Given the description of an element on the screen output the (x, y) to click on. 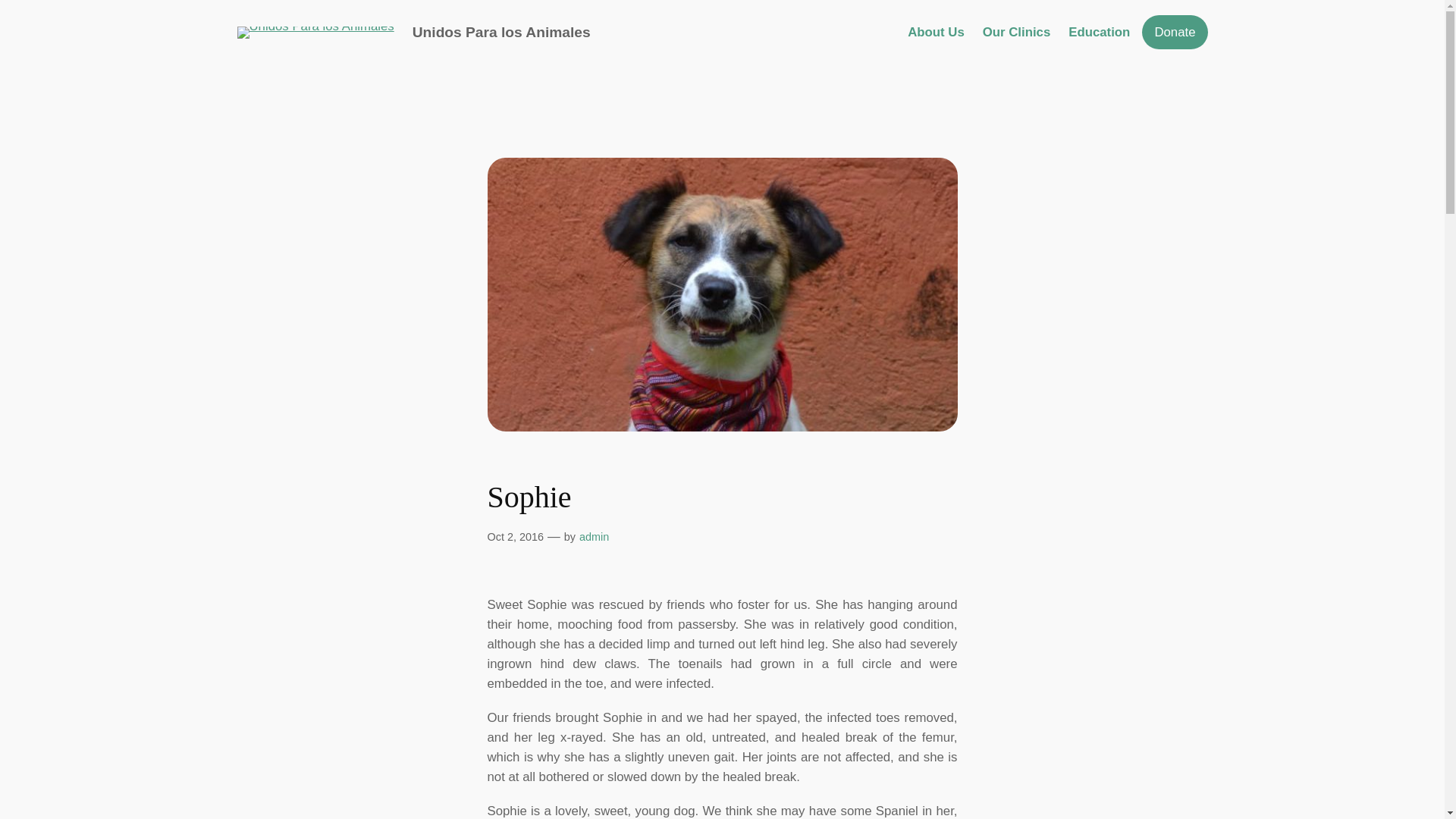
Donate (1174, 32)
Our Clinics (1016, 32)
Unidos Para los Animales (501, 32)
About Us (935, 32)
Oct 2, 2016 (514, 536)
admin (593, 536)
Education (1098, 32)
